Given the description of an element on the screen output the (x, y) to click on. 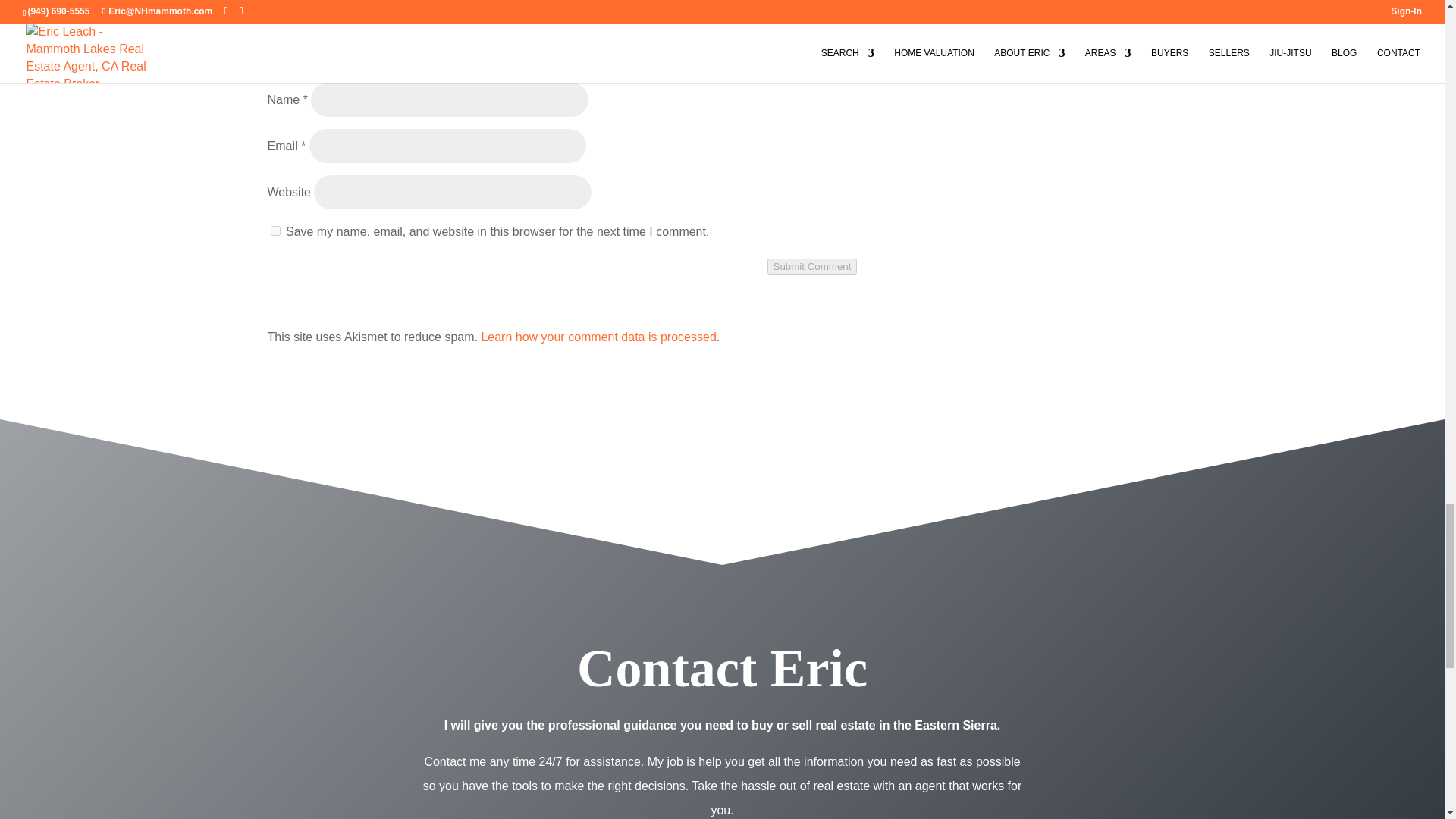
Learn how your comment data is processed (598, 336)
yes (274, 230)
Submit Comment (812, 266)
